Given the description of an element on the screen output the (x, y) to click on. 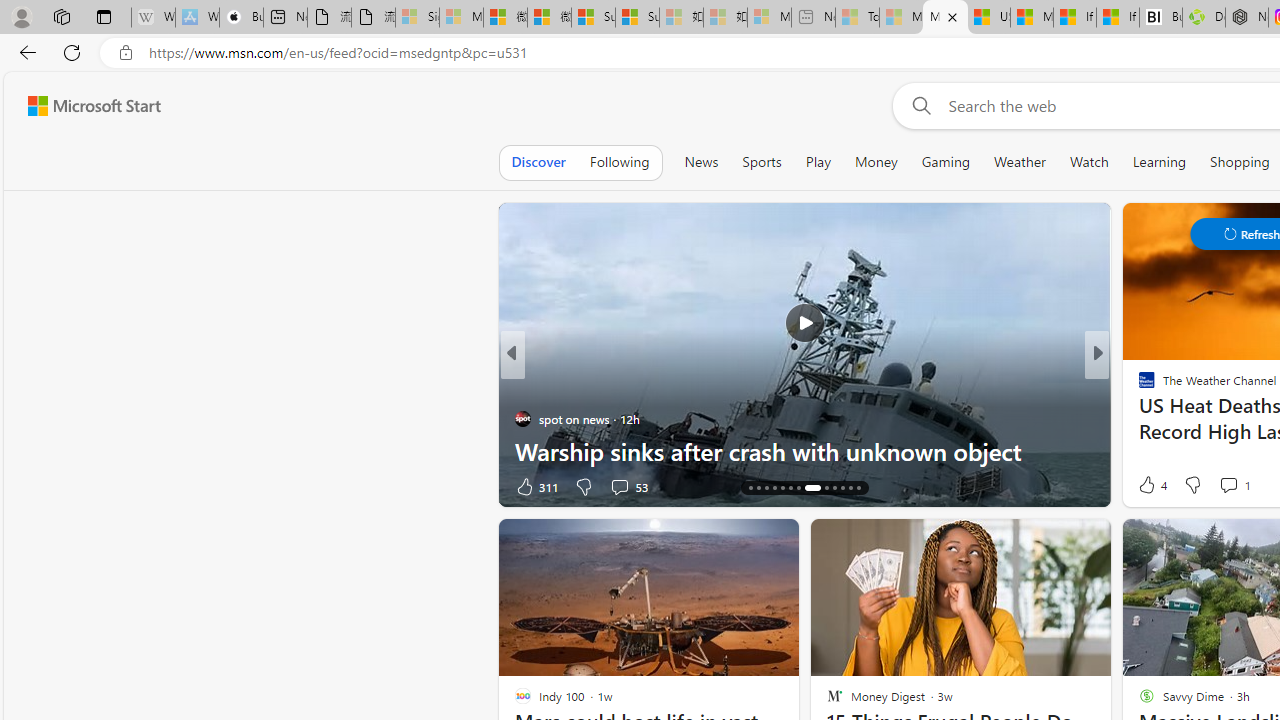
Nordace - Nordace Edin Collection (1247, 17)
AutomationID: tab-14 (750, 487)
View comments 13 Comment (11, 485)
View comments 35 Comment (1244, 486)
